Given the description of an element on the screen output the (x, y) to click on. 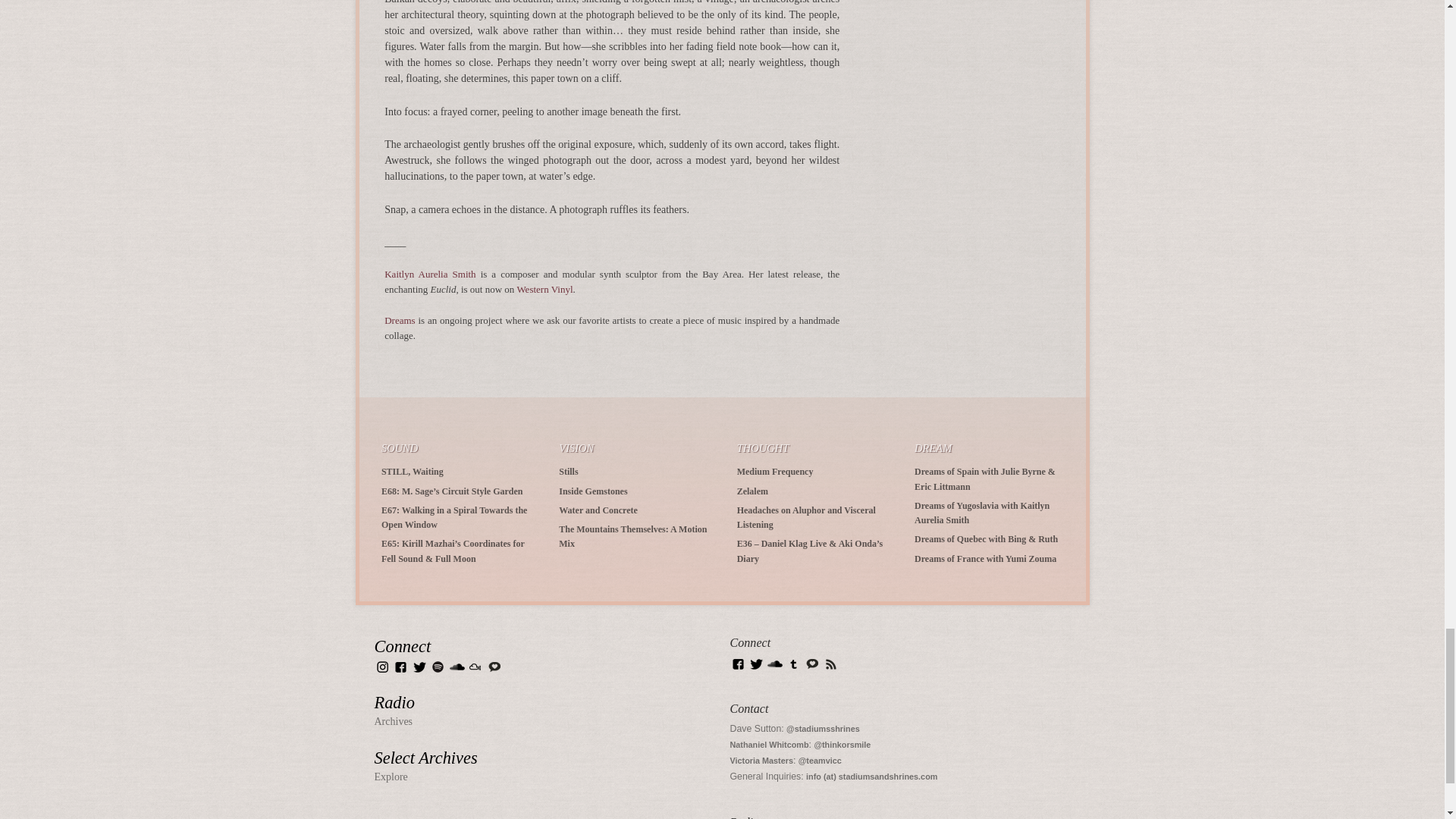
Western Vinyl (544, 288)
Zelalem (752, 490)
Stills (568, 471)
The Mountains Themselves: A Motion Mix (632, 536)
Permanent link to Inside Gemstones (593, 490)
Permanent link to Zelalem (752, 490)
Dreams of France with Yumi Zouma (985, 558)
Water and Concrete (598, 510)
E67: Walking in a Spiral Towards the Open Window (454, 517)
Headaches on Aluphor and Visceral Listening (806, 517)
Permanent link to The Mountains Themselves: A Motion Mix (632, 536)
Permanent link to Medium Frequency (774, 471)
STILL, Waiting (412, 471)
